Given the description of an element on the screen output the (x, y) to click on. 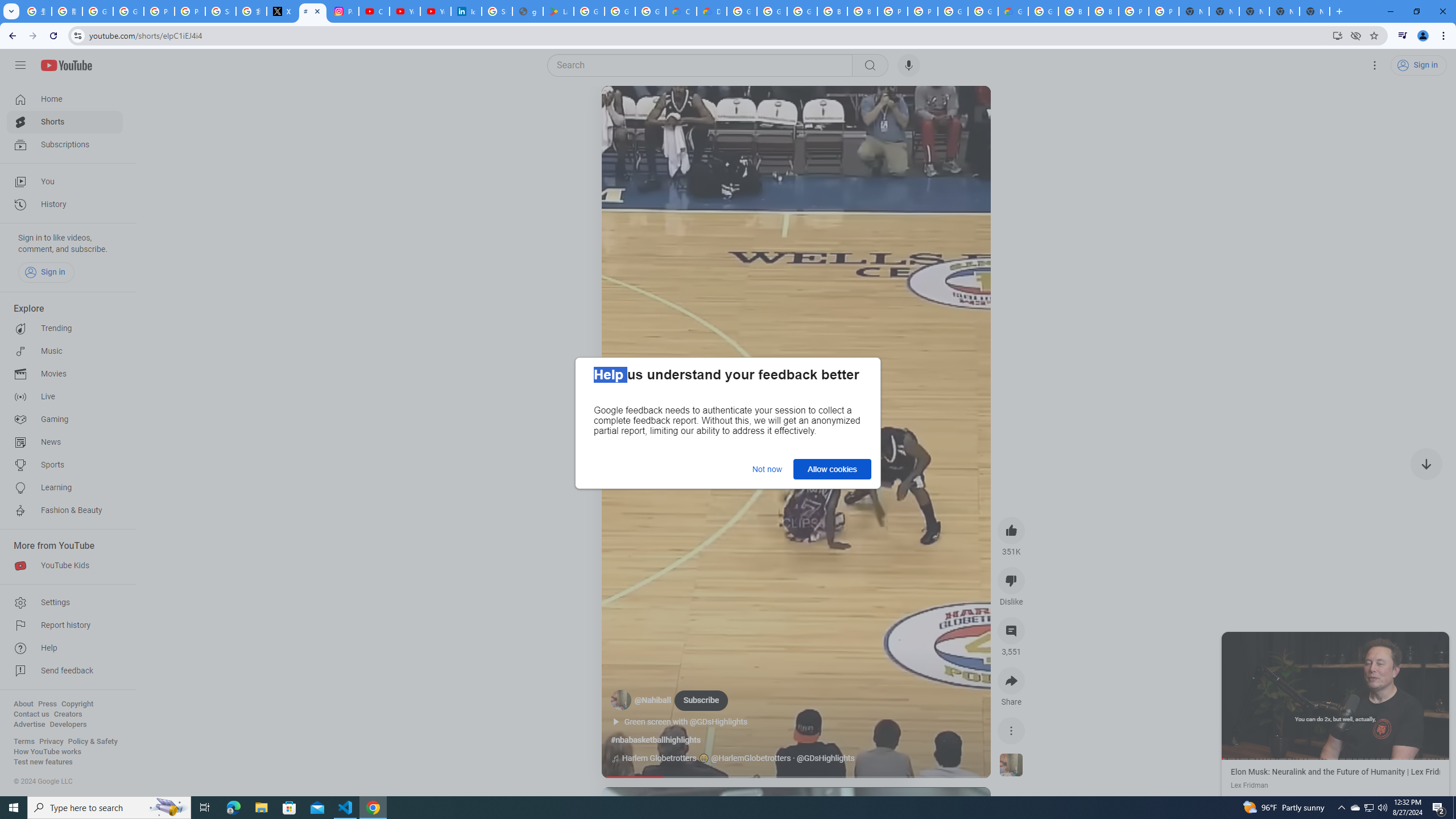
#nbabasketballhighlights - YouTube (312, 11)
music icon (615, 758)
like this video along with 351K other people (1011, 530)
Sports (64, 464)
Gaming (64, 419)
Live (64, 396)
Google Cloud Platform (1042, 11)
Trending (64, 328)
Next video (1426, 463)
